Given the description of an element on the screen output the (x, y) to click on. 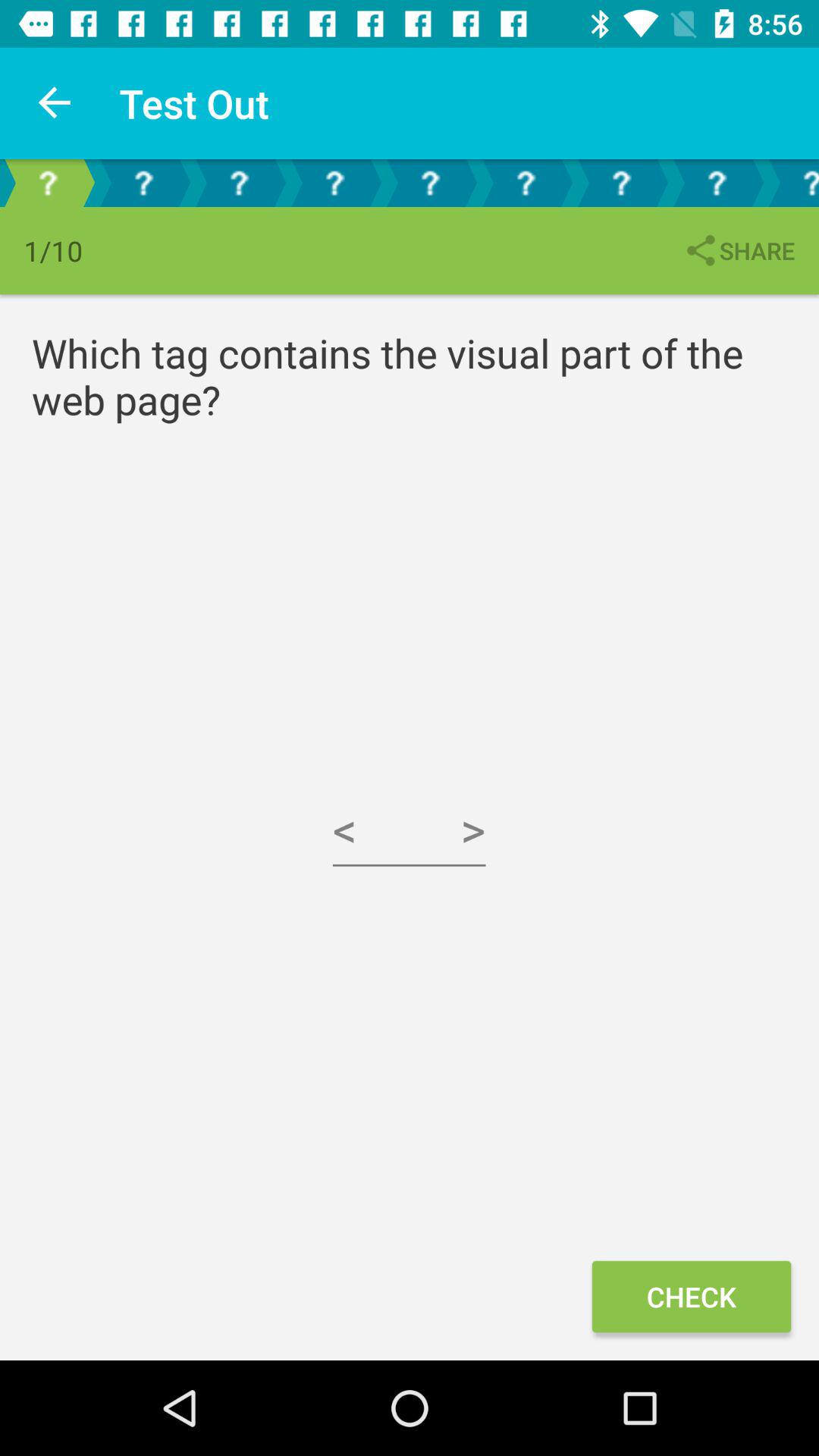
select share icon (738, 250)
